Given the description of an element on the screen output the (x, y) to click on. 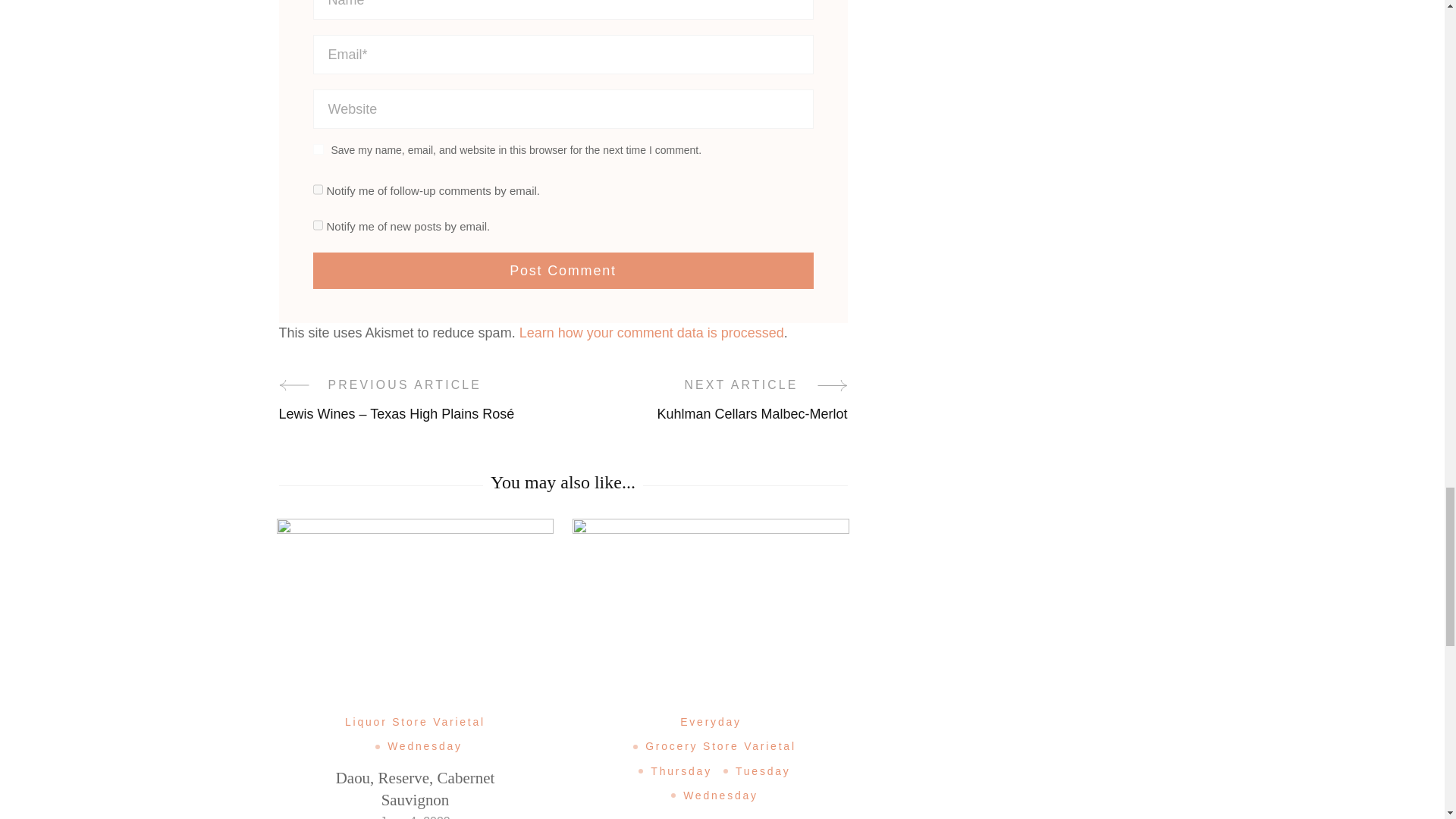
yes (318, 149)
subscribe (317, 189)
subscribe (317, 225)
Post Comment (562, 270)
